Given the description of an element on the screen output the (x, y) to click on. 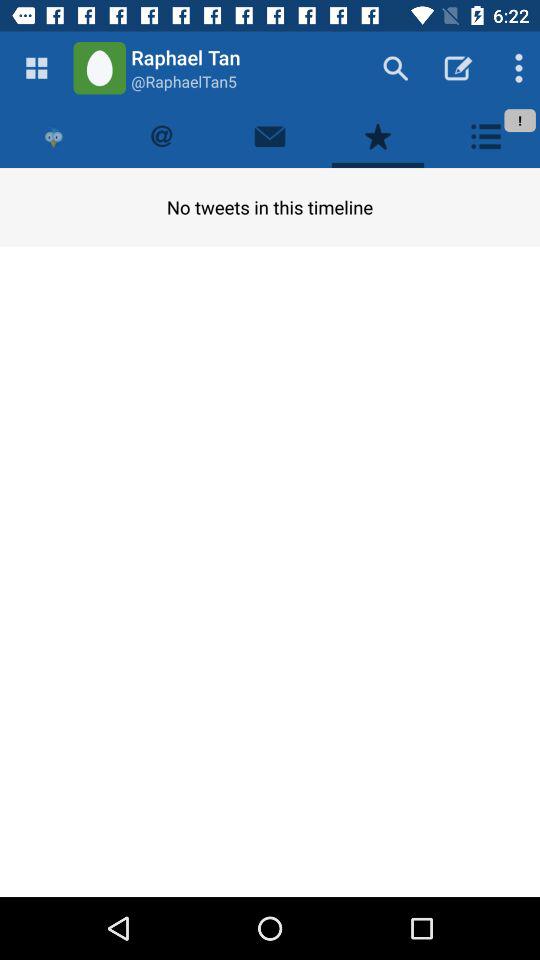
replies (162, 136)
